Given the description of an element on the screen output the (x, y) to click on. 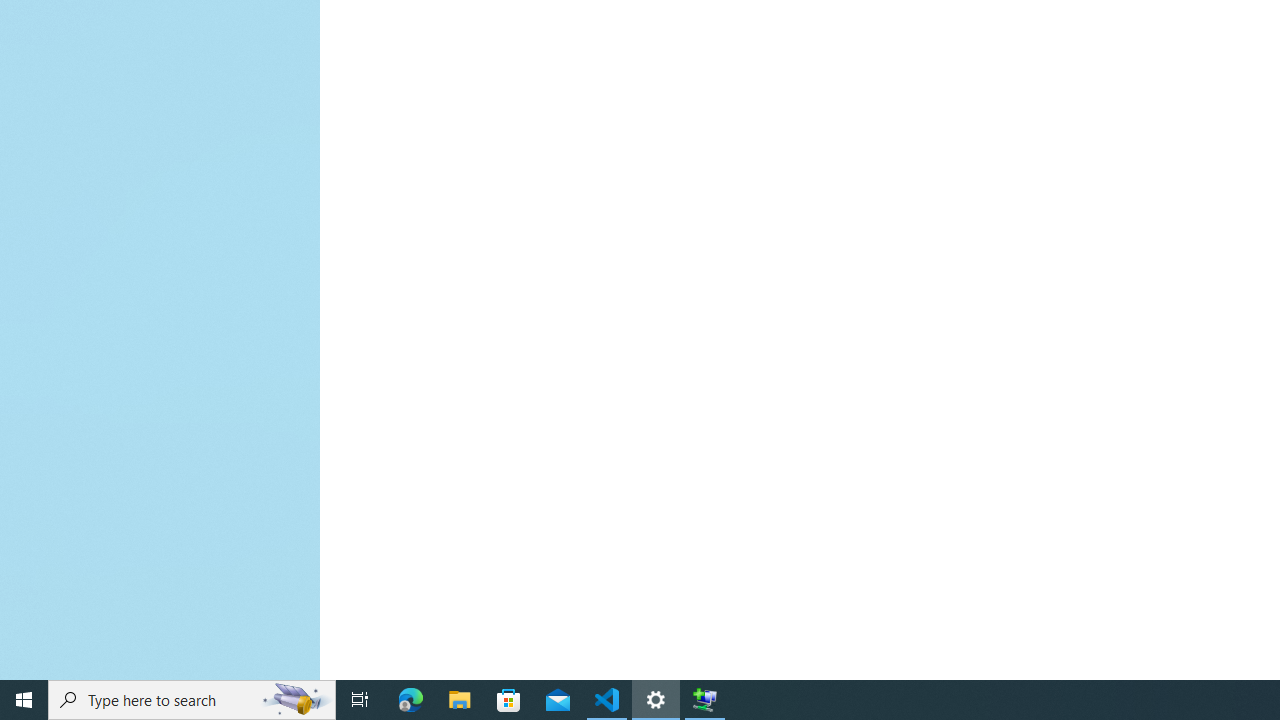
Search highlights icon opens search home window (295, 699)
File Explorer (460, 699)
Settings - 1 running window (656, 699)
Extensible Wizards Host Process - 1 running window (704, 699)
Microsoft Store (509, 699)
Microsoft Edge (411, 699)
Visual Studio Code - 1 running window (607, 699)
Start (24, 699)
Task View (359, 699)
Type here to search (191, 699)
